Given the description of an element on the screen output the (x, y) to click on. 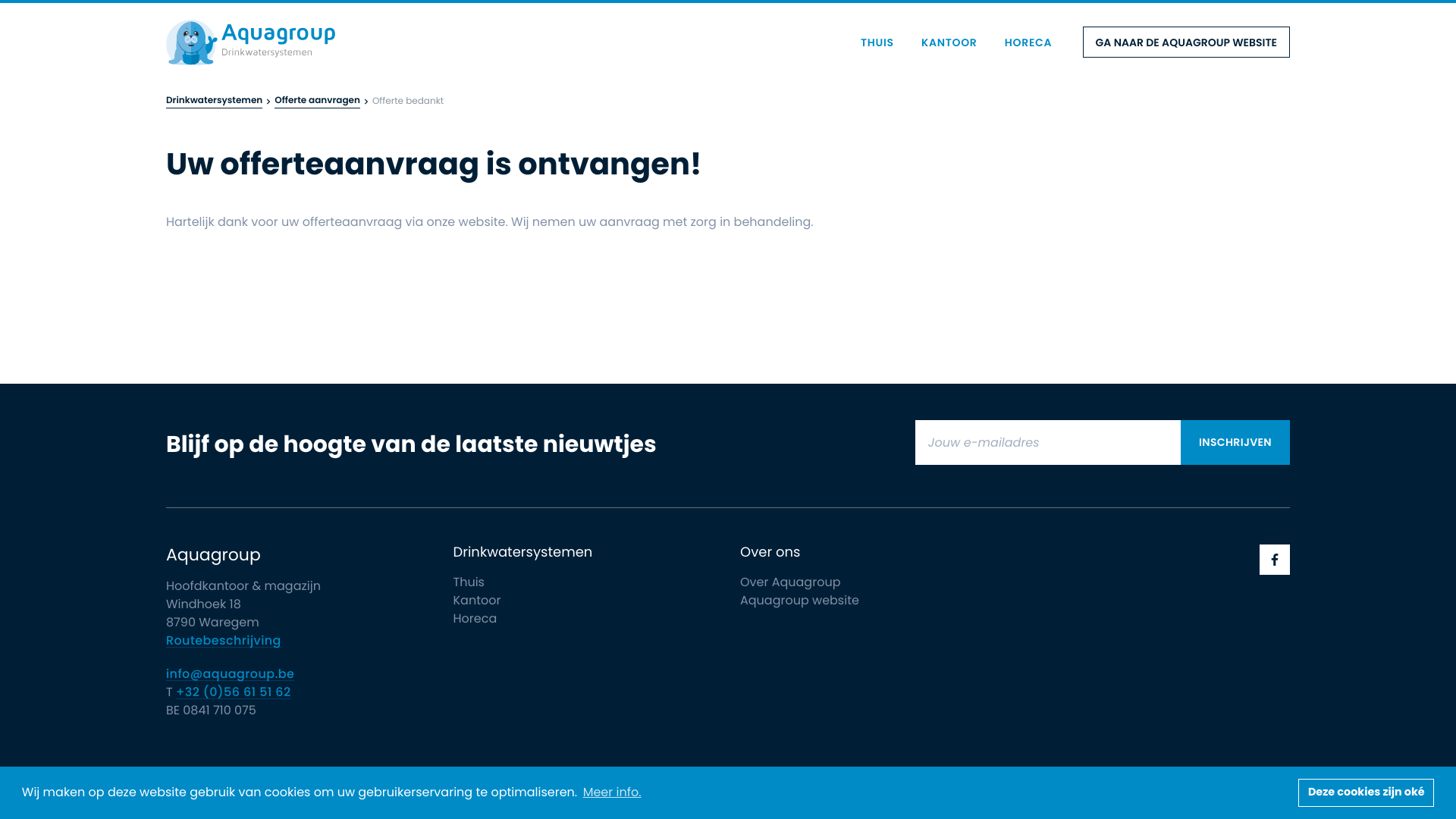
Routebeschrijving Element type: text (223, 640)
Horeca Element type: text (475, 618)
INSCHRIJVEN Element type: text (1234, 442)
HORECA Element type: text (1027, 41)
Facebook Element type: hover (1274, 559)
Aquagroup website Element type: text (799, 599)
Algemene voorwaarden Element type: text (406, 775)
GA NAAR DE AQUAGROUP WEBSITE Element type: text (1185, 41)
info@aquagroup.be Element type: text (230, 674)
nl Element type: hover (250, 42)
KANTOOR Element type: text (949, 41)
THUIS Element type: text (877, 41)
Meer info. Element type: text (611, 792)
Offerte aanvragen Element type: text (317, 101)
Thuis Element type: text (468, 581)
Over Aquagroup Element type: text (790, 581)
+32 (0)56 61 51 62 Element type: text (233, 692)
Privacy Policy Element type: text (299, 775)
Drinkwatersystemen Element type: text (214, 101)
Kantoor Element type: text (477, 599)
